Given the description of an element on the screen output the (x, y) to click on. 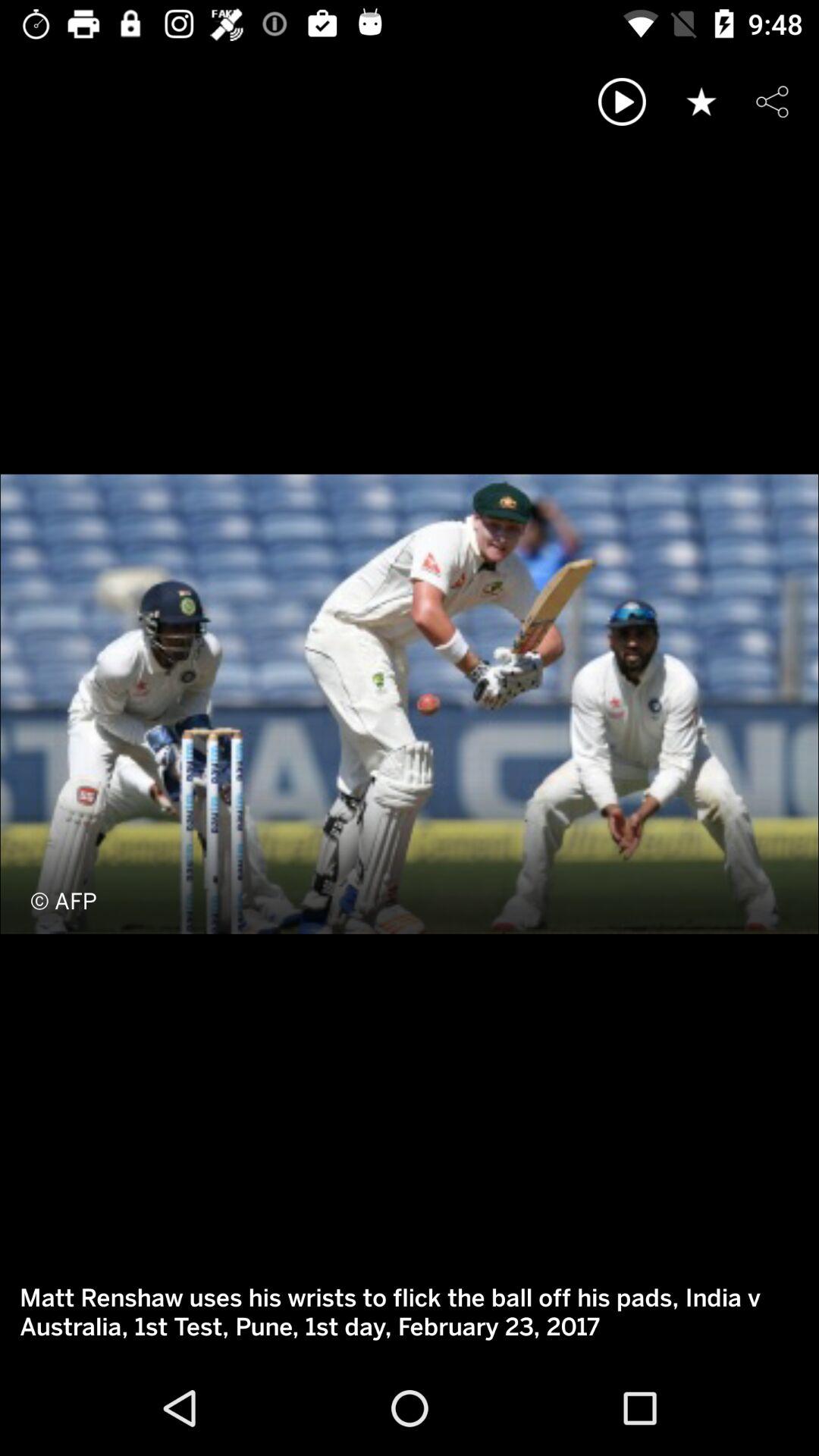
share image (772, 101)
